Given the description of an element on the screen output the (x, y) to click on. 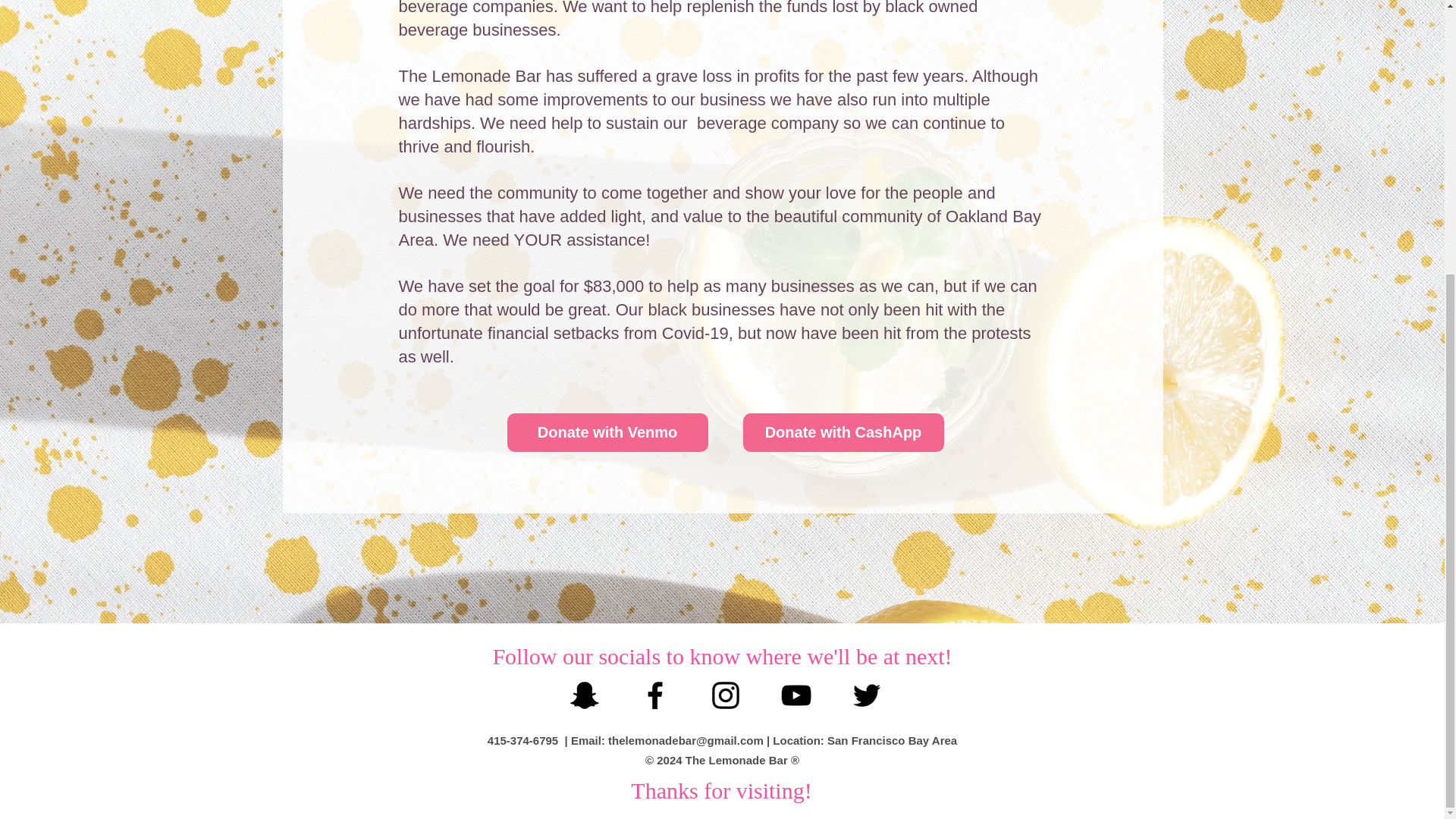
415-374-6795 (522, 739)
Donate with CashApp (842, 432)
Donate with Venmo (606, 432)
